Given the description of an element on the screen output the (x, y) to click on. 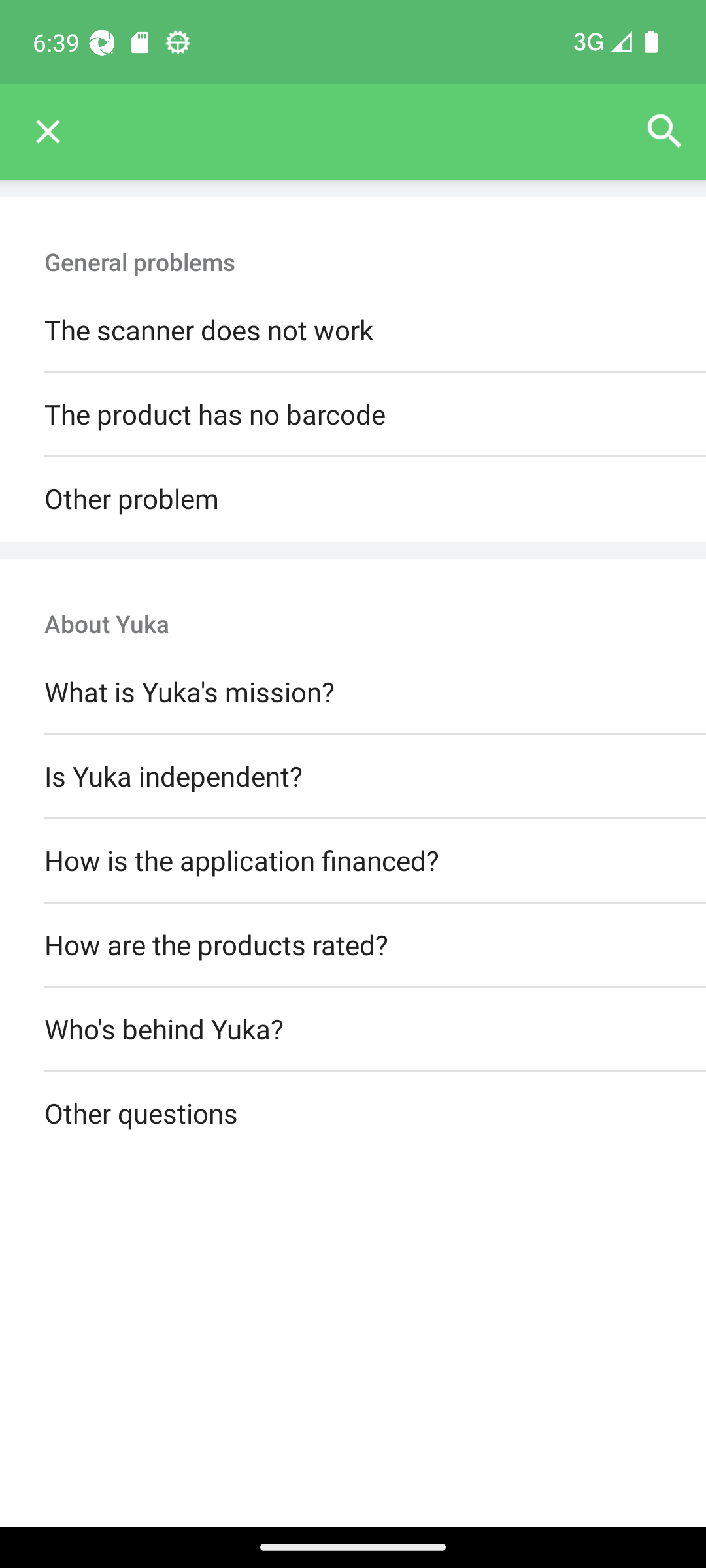
Search (664, 131)
The scanner does not work (353, 330)
The product has no barcode (353, 415)
Other problem (353, 498)
What is Yuka's mission? (353, 692)
Is Yuka independent? (353, 776)
How is the application financed? (353, 860)
How are the products rated? (353, 945)
Who's behind Yuka? (353, 1029)
Other questions (353, 1114)
